Given the description of an element on the screen output the (x, y) to click on. 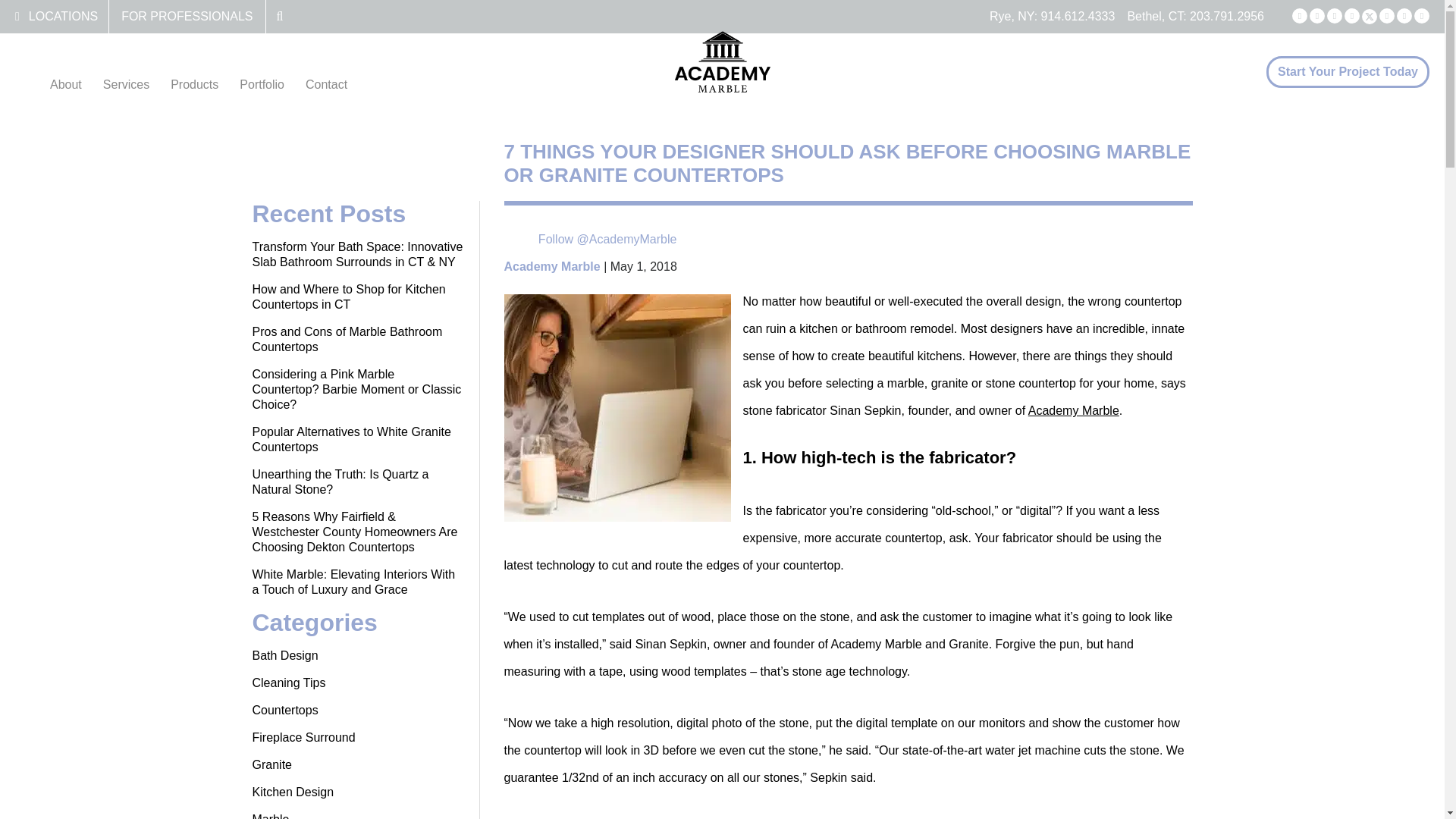
203.791.2956 (1226, 15)
LOCATIONS (63, 15)
914.612.4333 (1078, 15)
FOR PROFESSIONALS (185, 15)
